Given the description of an element on the screen output the (x, y) to click on. 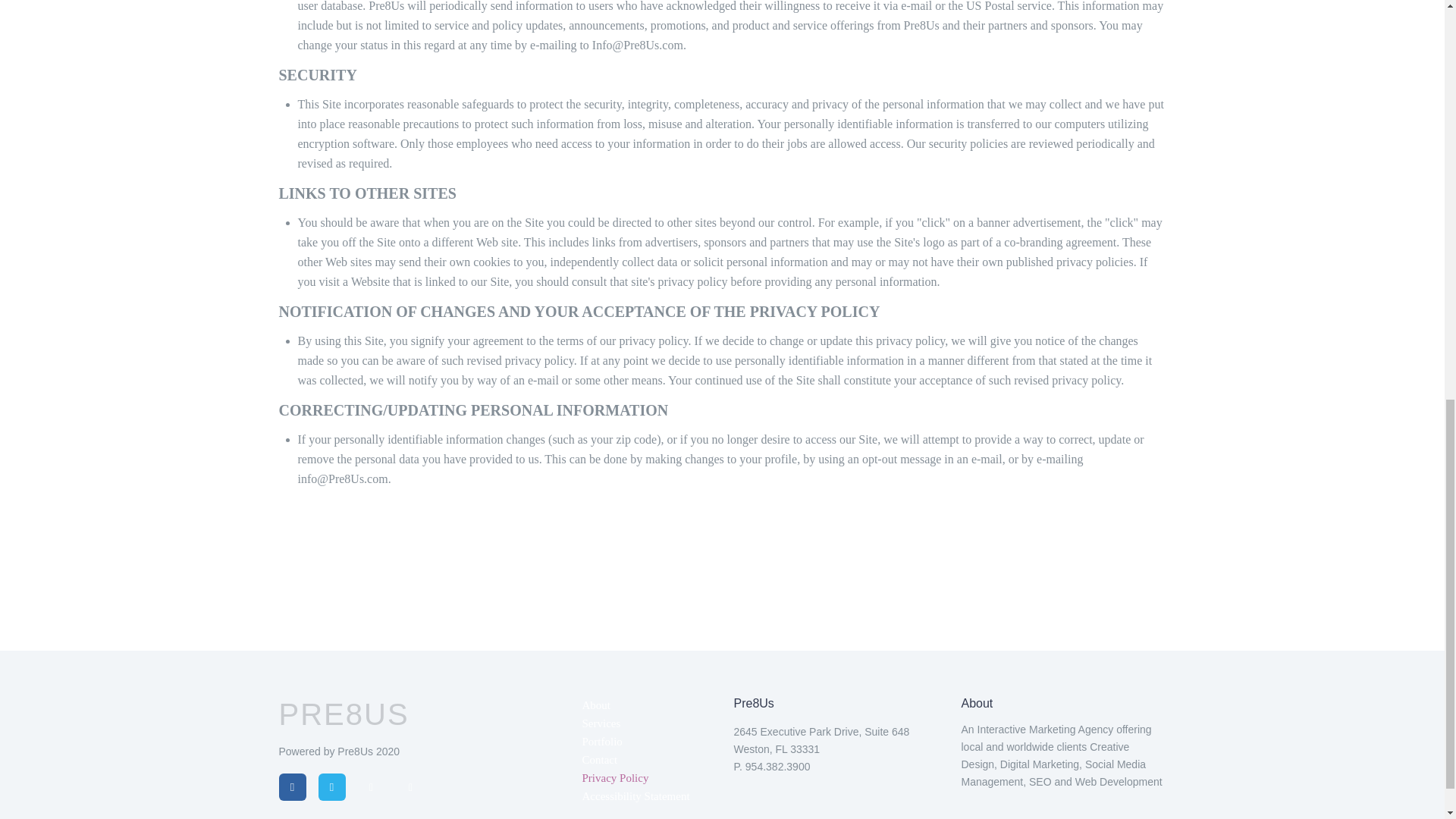
About (596, 705)
Portfolio (602, 741)
facebook (292, 786)
Services (601, 723)
Privacy Policy (615, 777)
instagram (411, 786)
linkedin (371, 786)
Contact (599, 759)
twitter (332, 786)
PRE8US (344, 714)
